Given the description of an element on the screen output the (x, y) to click on. 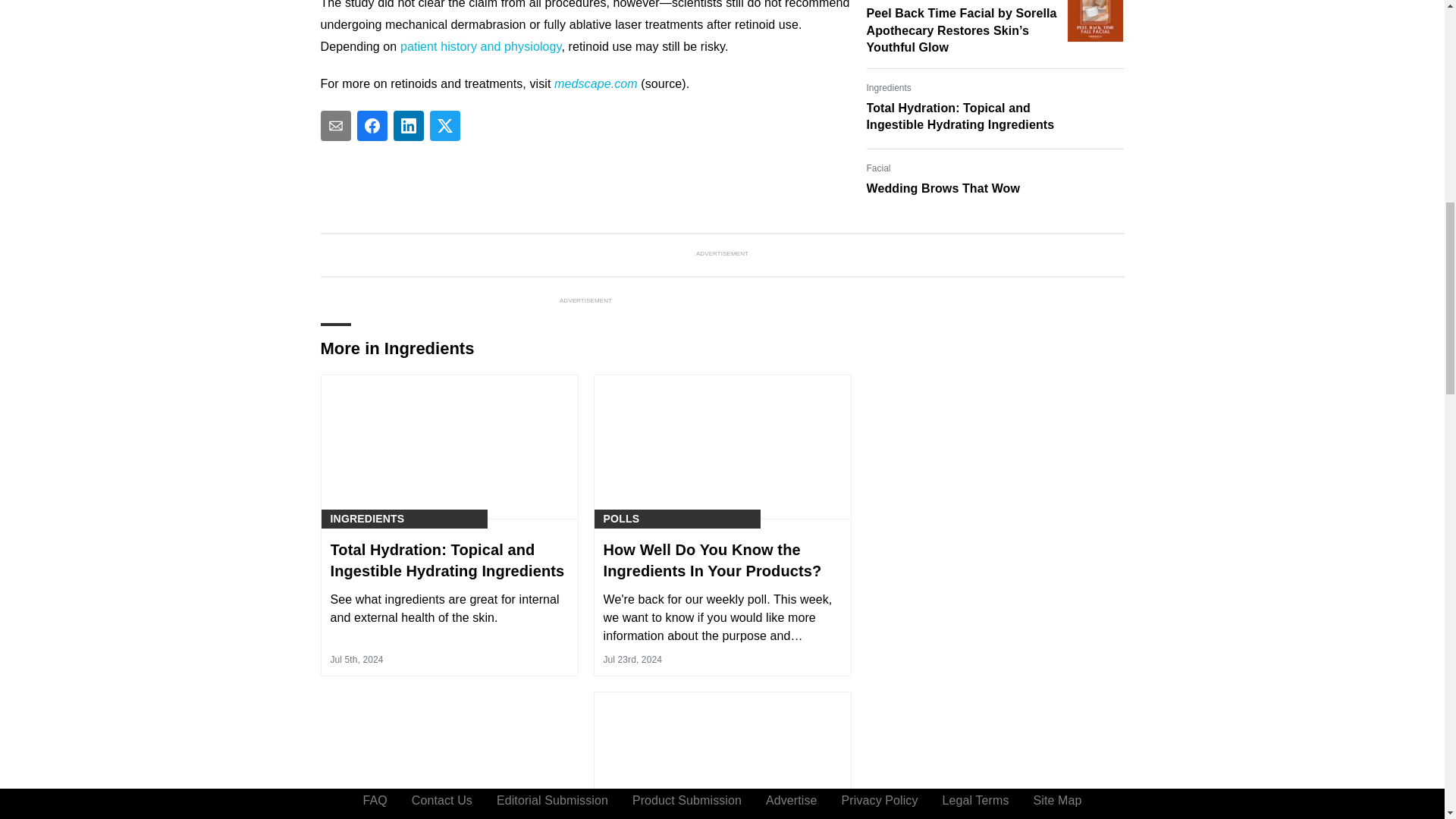
Share To twitter (444, 125)
Share To linkedin (408, 125)
Sponsored (888, 0)
Share To facebook (371, 125)
Share To email (335, 125)
